Given the description of an element on the screen output the (x, y) to click on. 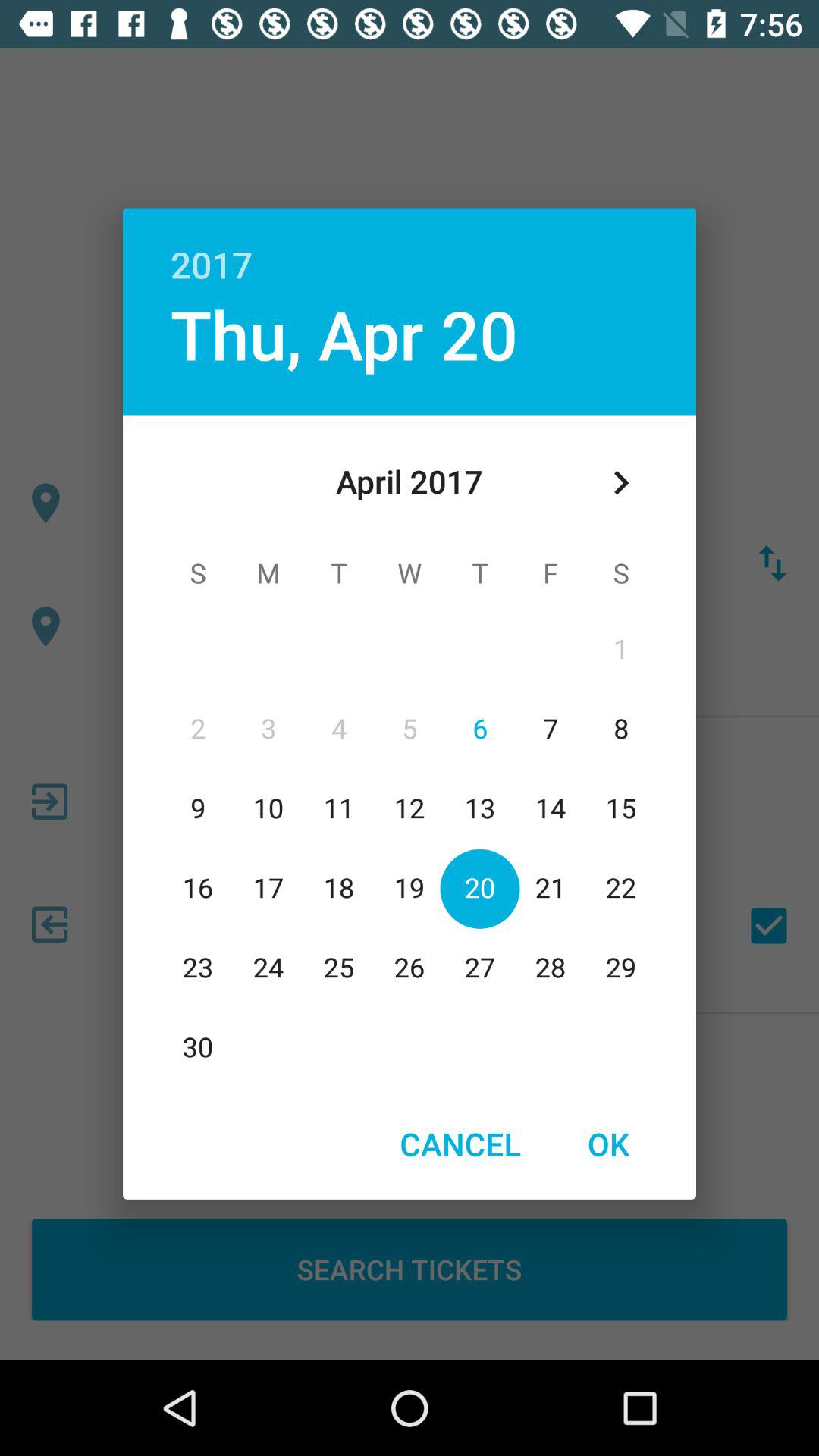
launch icon at the bottom right corner (608, 1143)
